Given the description of an element on the screen output the (x, y) to click on. 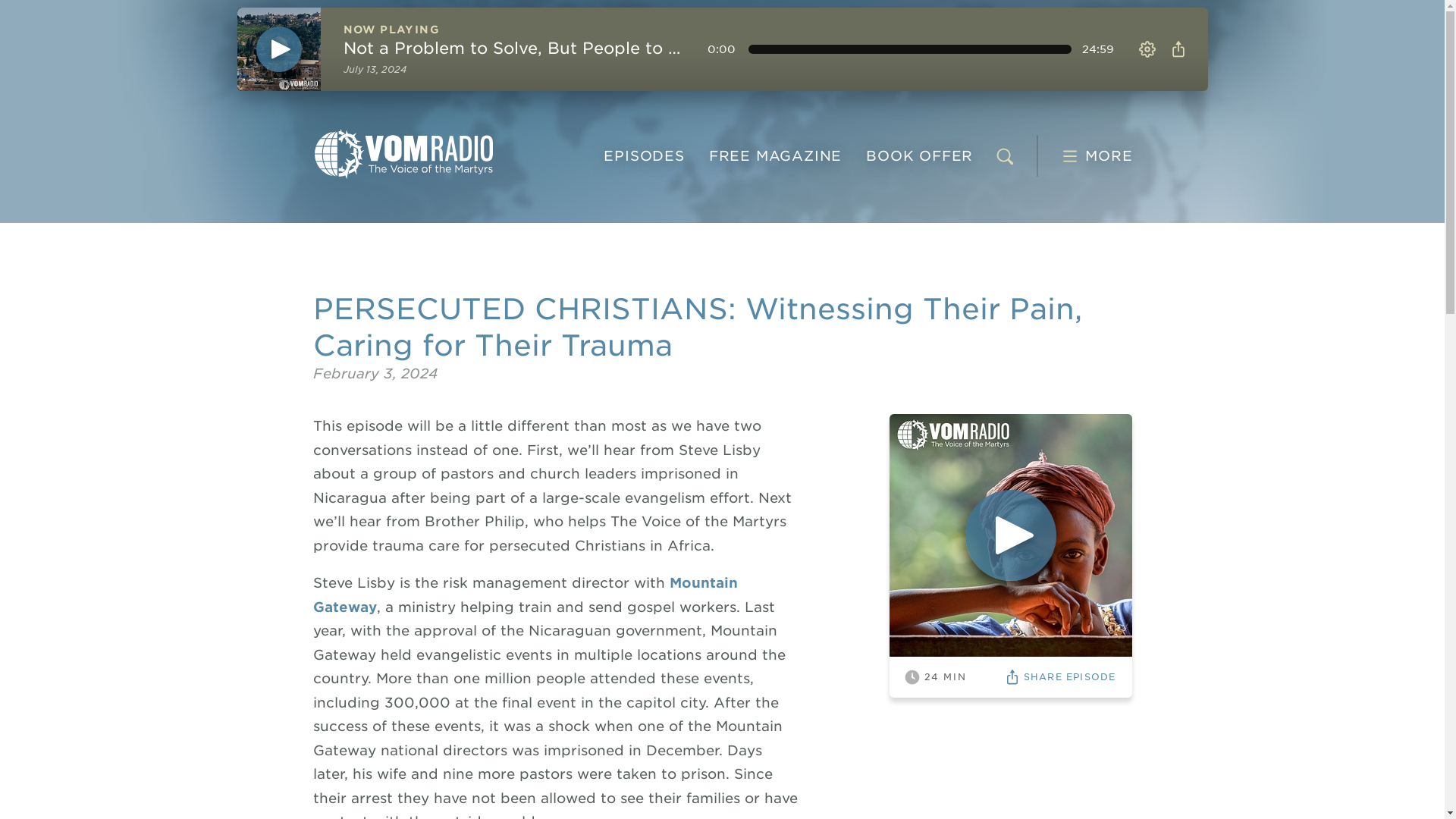
FREE MAGAZINE (1176, 49)
EPISODES (775, 155)
Settings (643, 155)
BOOK OFFER (1146, 49)
VOM Radio (919, 155)
Mountain Gateway (403, 153)
minutes (524, 594)
MORE (954, 676)
